Given the description of an element on the screen output the (x, y) to click on. 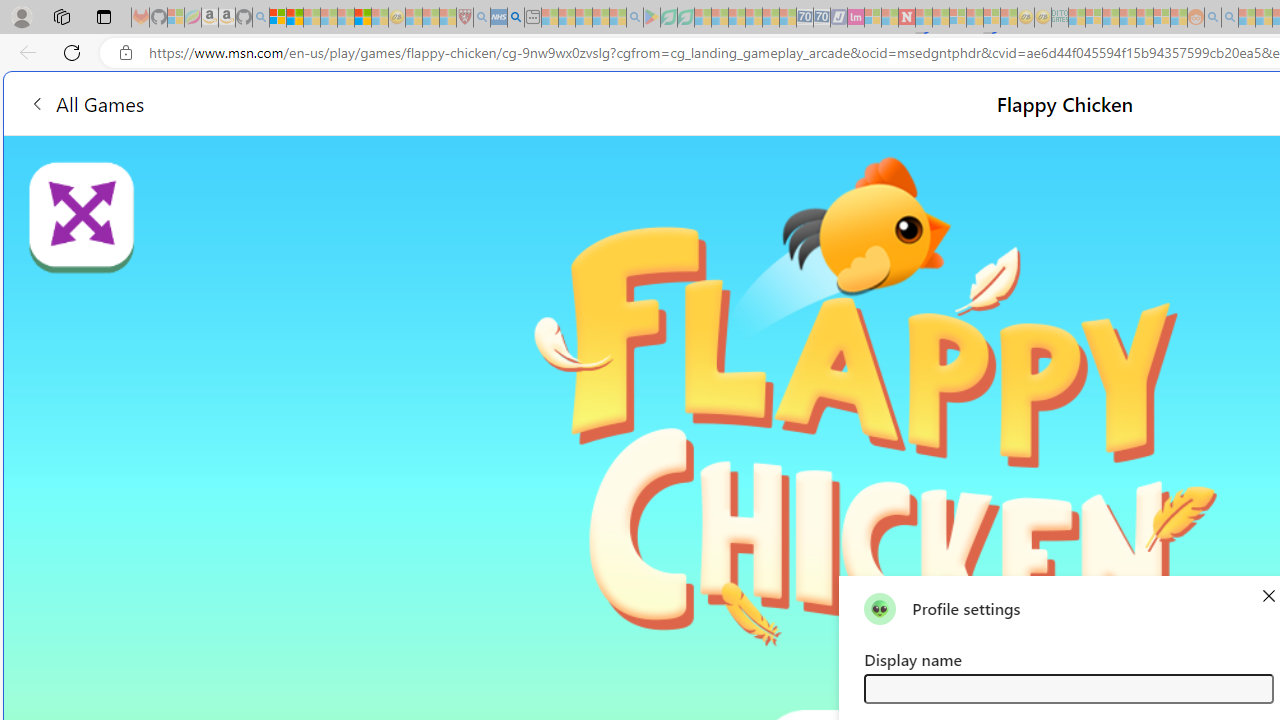
Jobs - lastminute.com Investor Portal - Sleeping (855, 17)
Local - MSN - Sleeping (447, 17)
14 Common Myths Debunked By Scientific Facts - Sleeping (940, 17)
Robert H. Shmerling, MD - Harvard Health - Sleeping (465, 17)
Terms of Use Agreement - Sleeping (668, 17)
